Given the description of an element on the screen output the (x, y) to click on. 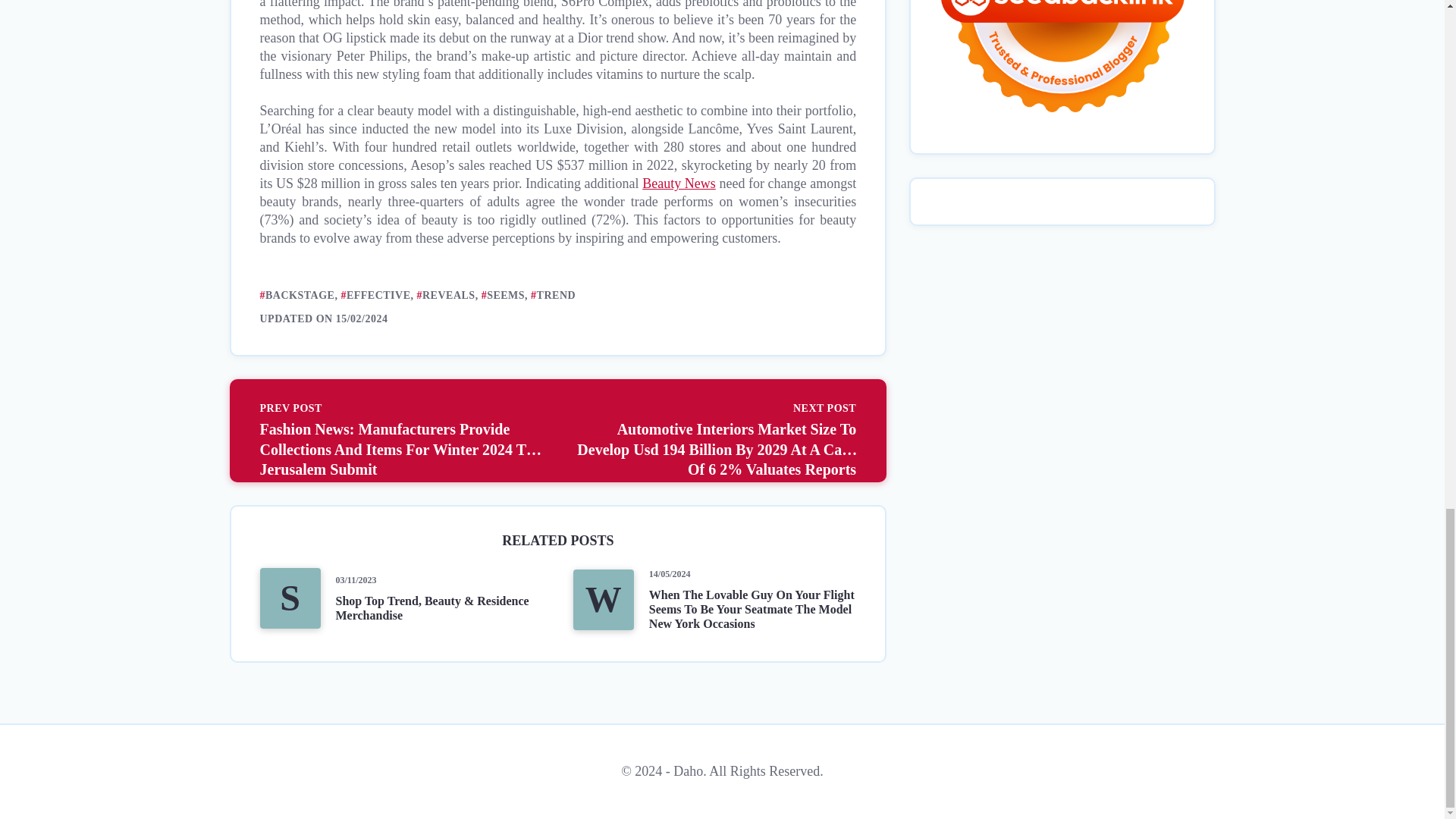
Seedbacklink (1062, 65)
